Given the description of an element on the screen output the (x, y) to click on. 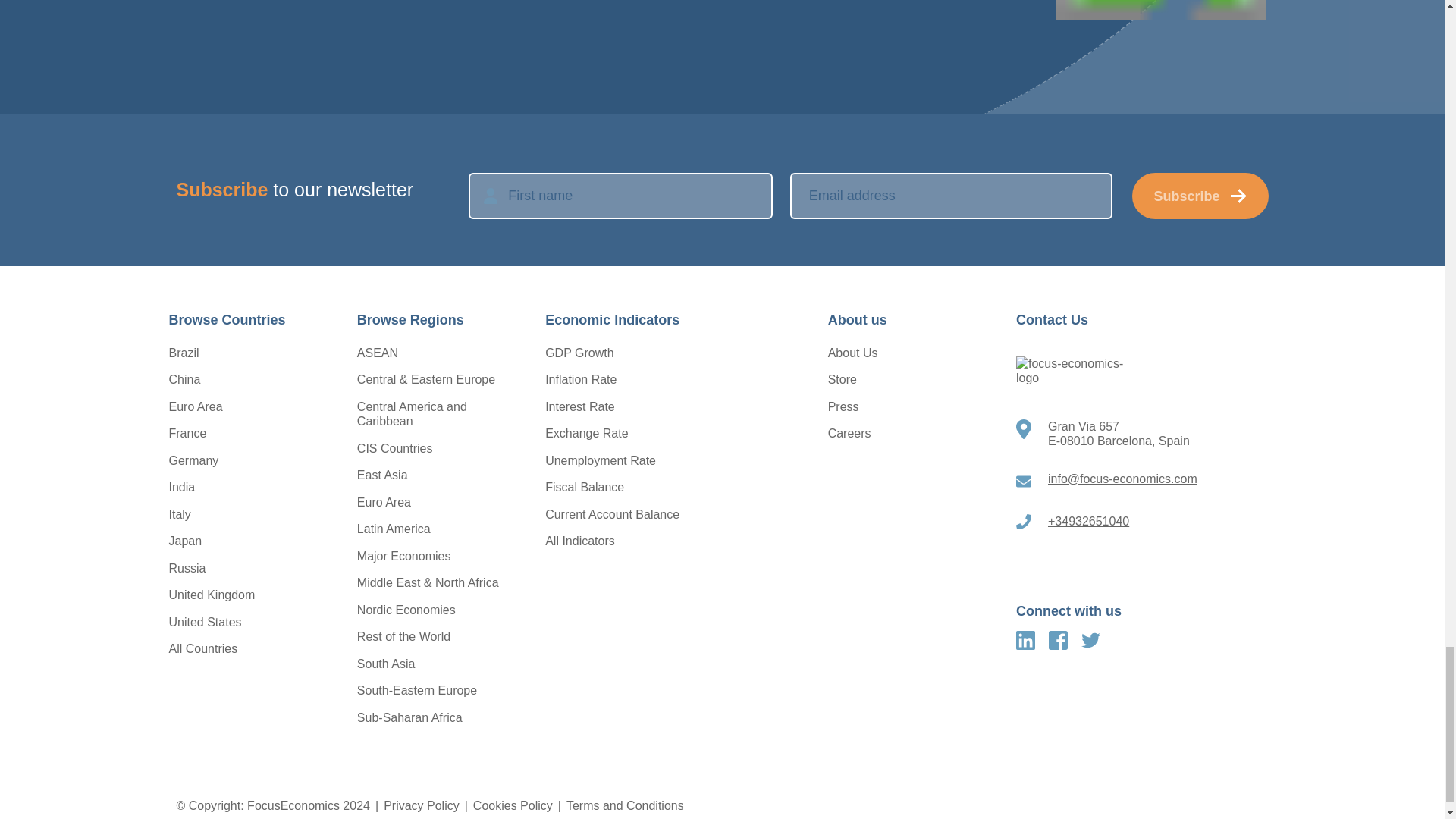
Subscribe (1200, 195)
